Given the description of an element on the screen output the (x, y) to click on. 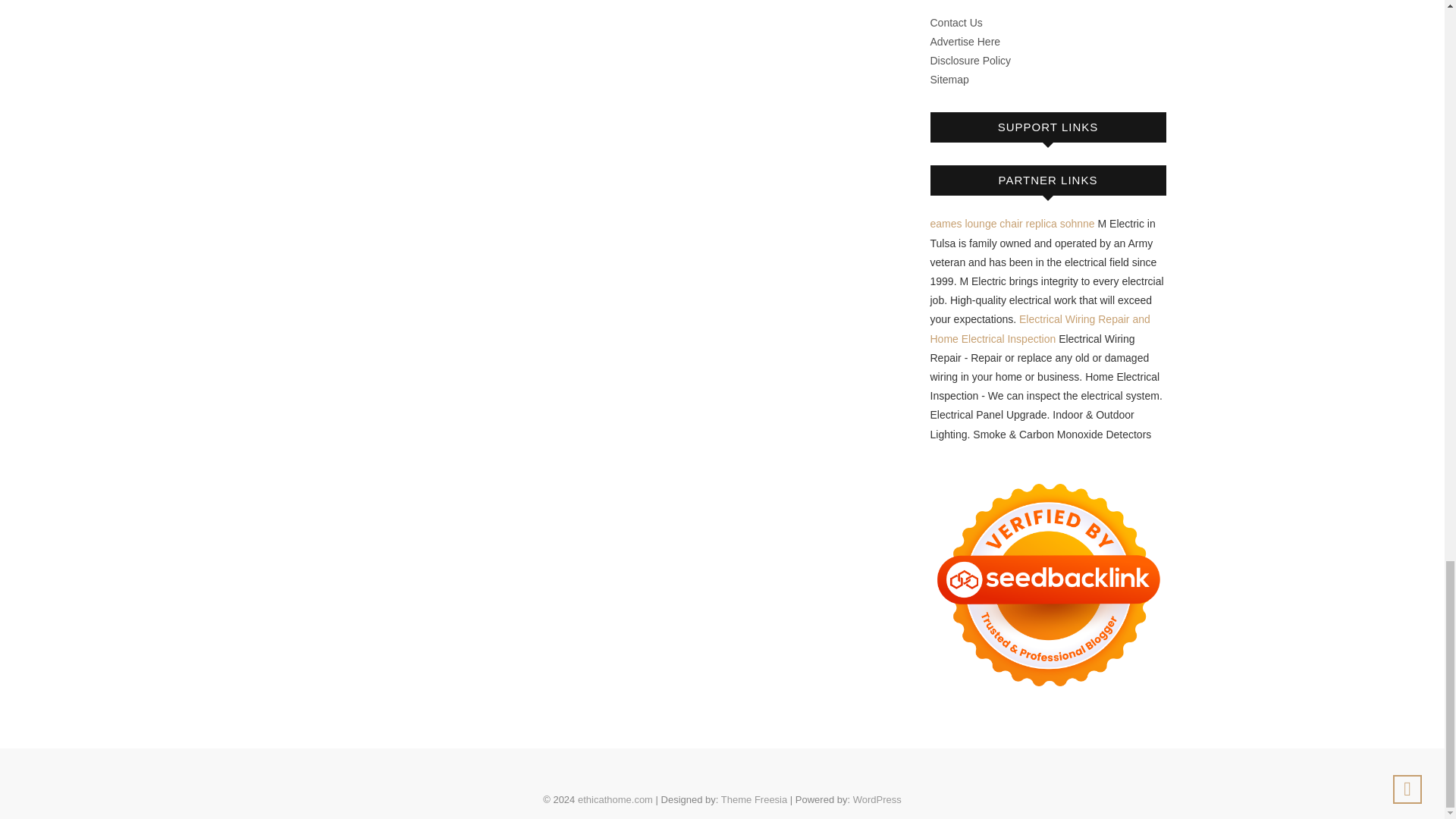
Theme Freesia (753, 799)
Seedbacklink (1048, 584)
ethicathome.com (615, 799)
WordPress (877, 799)
